Given the description of an element on the screen output the (x, y) to click on. 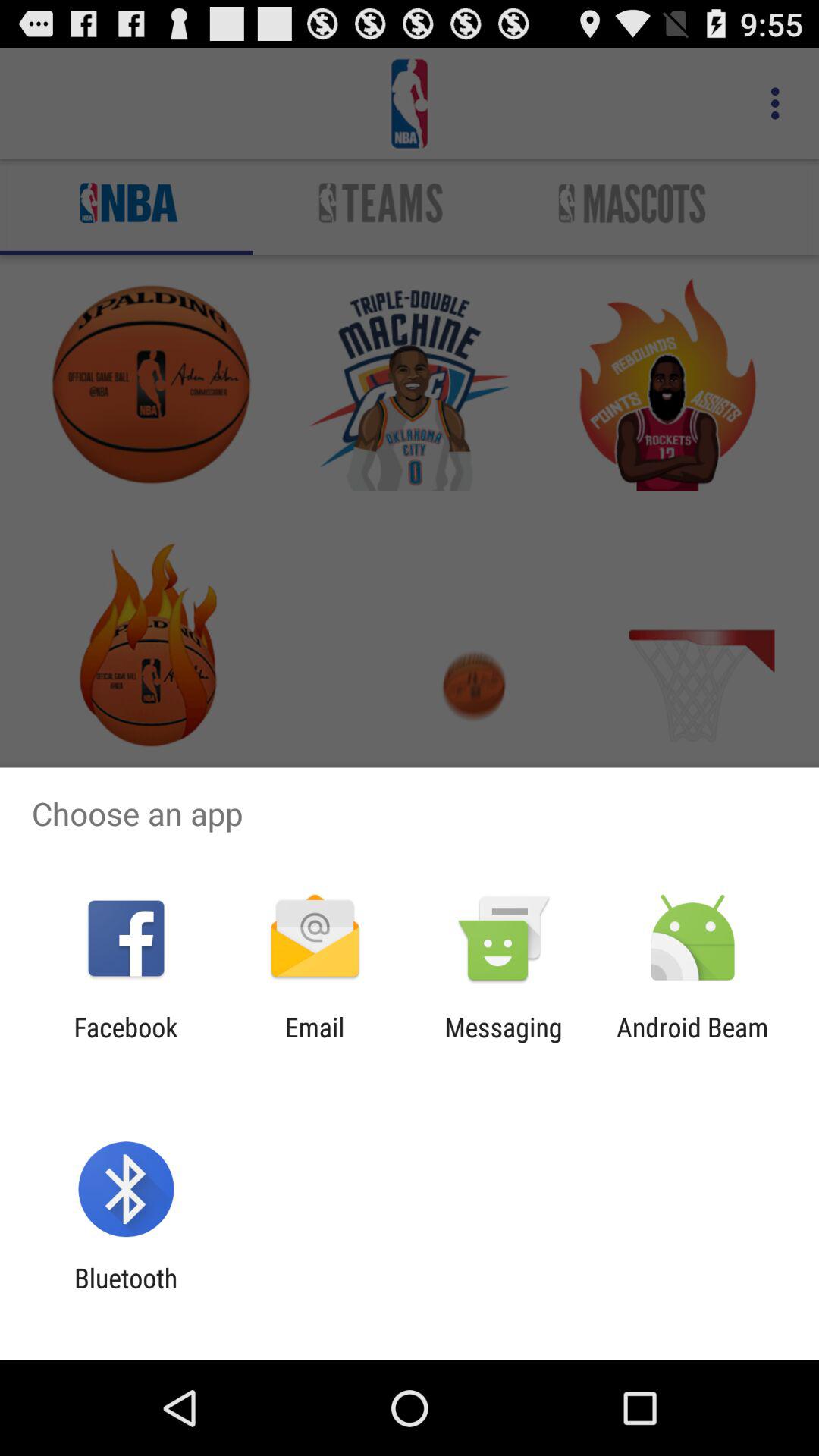
turn on the icon to the left of android beam item (503, 1042)
